Given the description of an element on the screen output the (x, y) to click on. 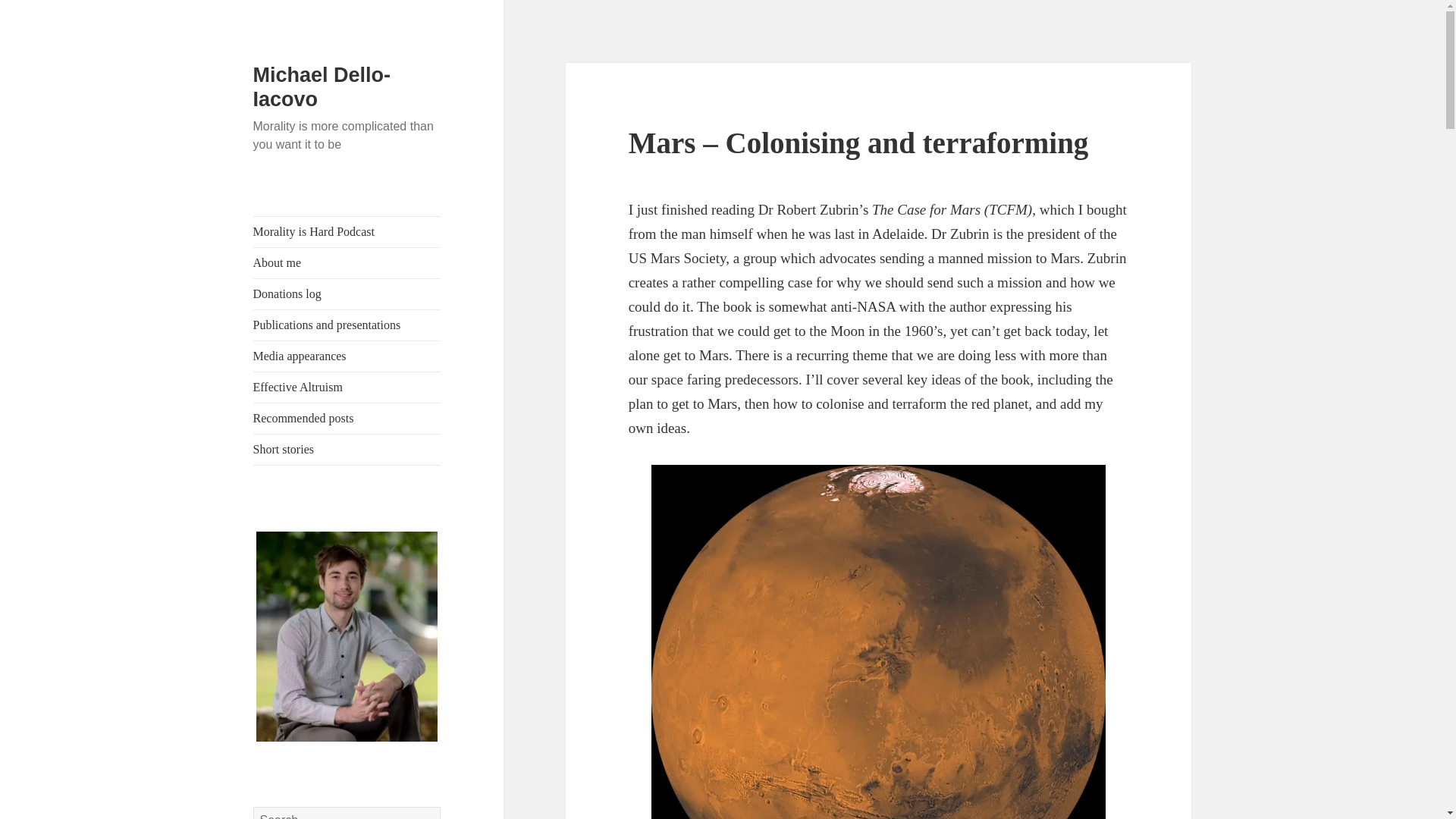
Publications and presentations (347, 325)
Recommended posts (347, 418)
Media appearances (347, 356)
Short stories (347, 449)
Michael Dello-Iacovo (322, 86)
Donations log (347, 294)
About me (347, 263)
Morality is Hard Podcast (347, 232)
Effective Altruism (347, 387)
